Given the description of an element on the screen output the (x, y) to click on. 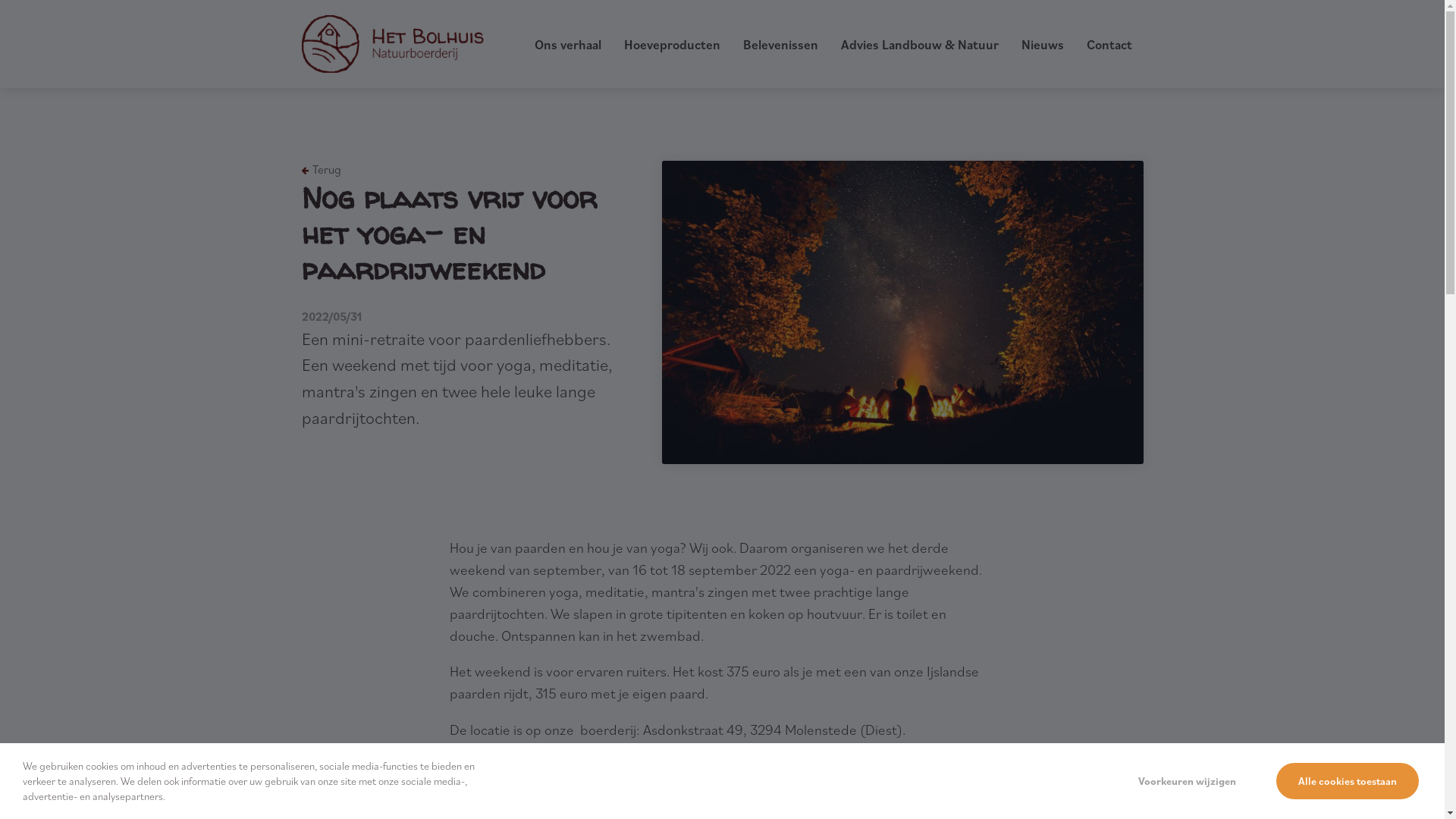
Nieuws Element type: text (1041, 44)
Advies Landbouw & Natuur Element type: text (918, 44)
Contact Element type: text (1108, 44)
Terug Element type: text (321, 169)
Belevenissen Element type: text (780, 44)
Ons verhaal Element type: text (566, 44)
Hoeveproducten Element type: text (671, 44)
